Given the description of an element on the screen output the (x, y) to click on. 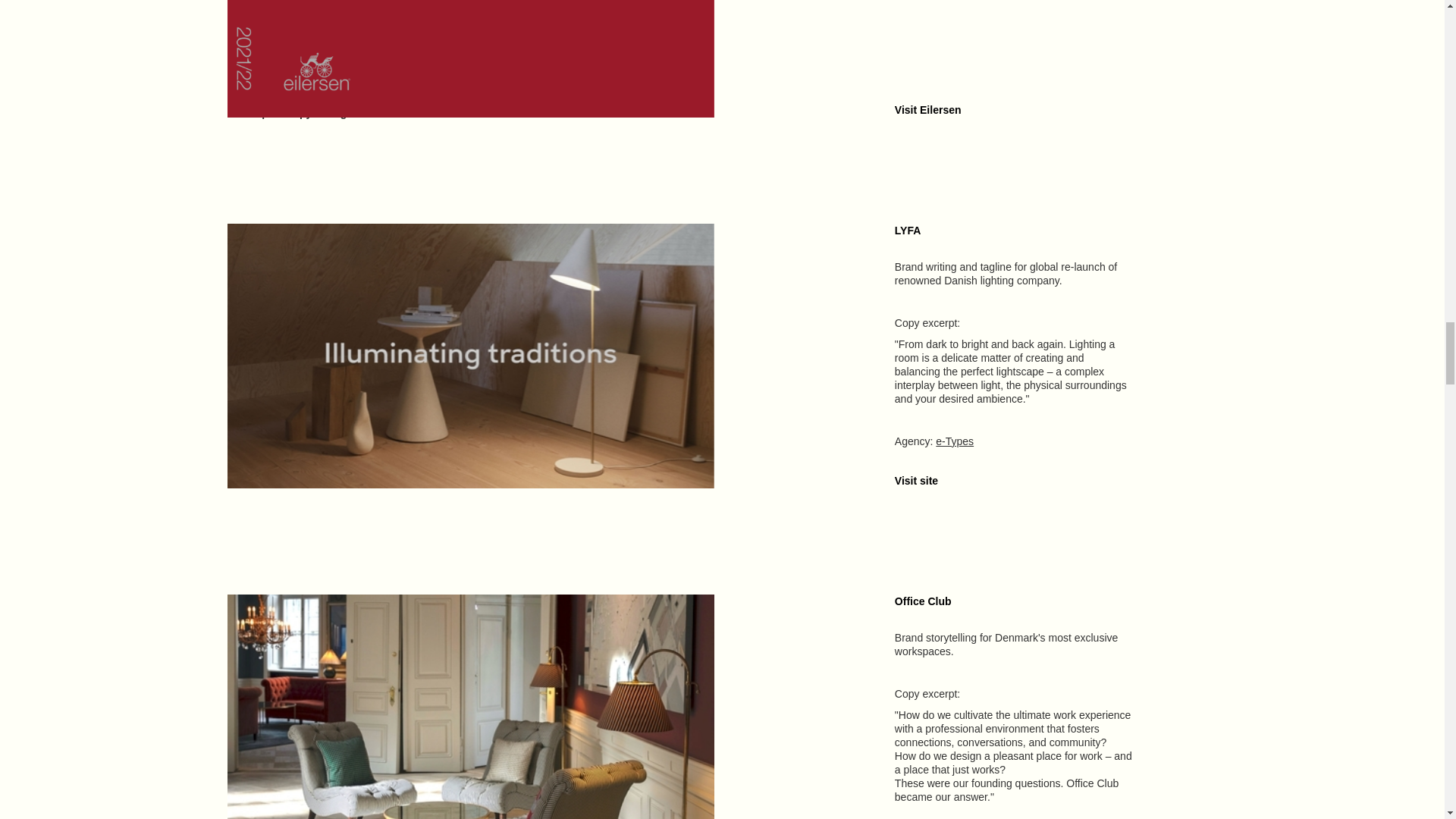
Visit site (916, 480)
e-Types (955, 440)
Visit Eilersen (927, 110)
